Given the description of an element on the screen output the (x, y) to click on. 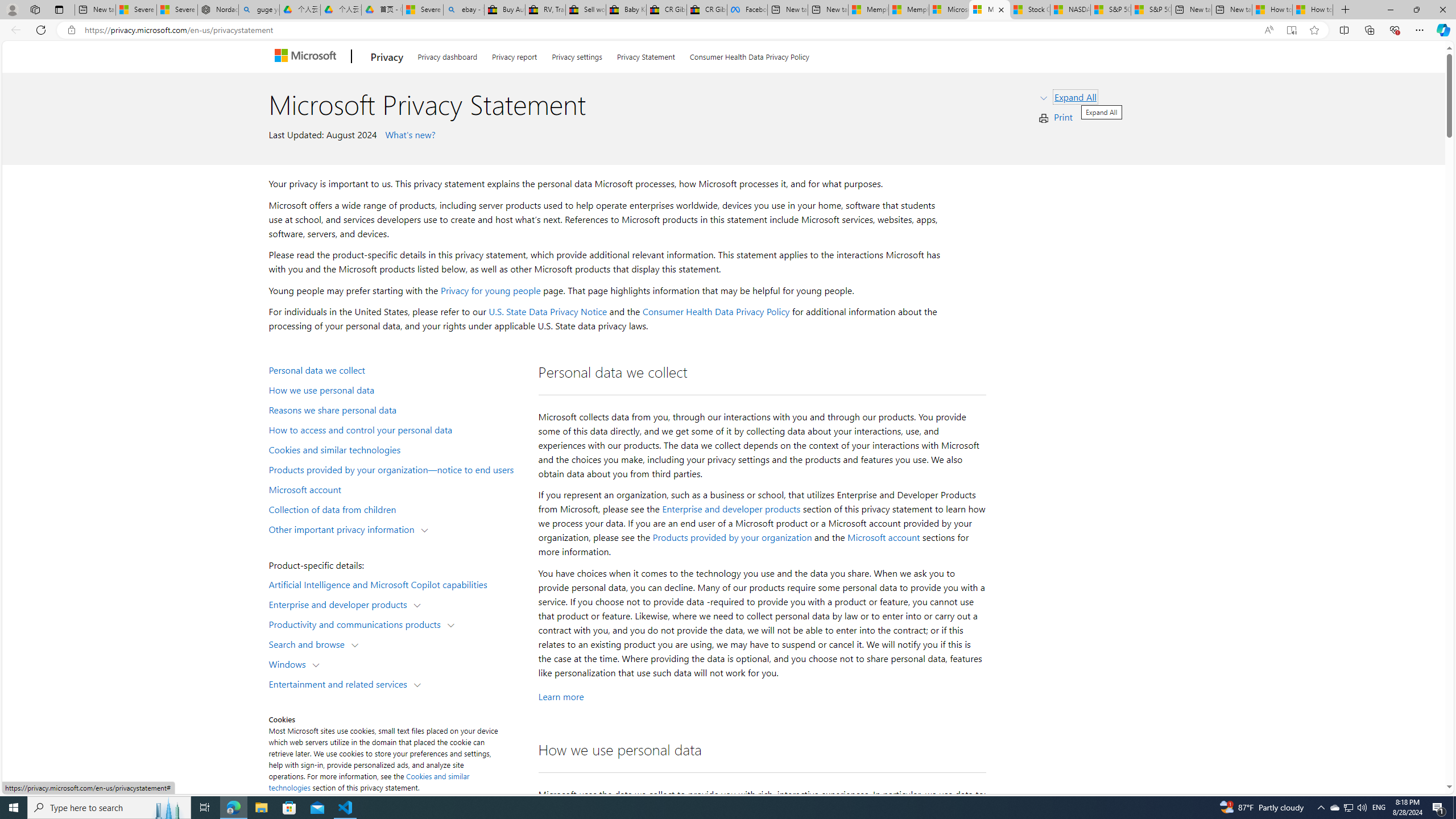
Privacy for young people (489, 290)
 What's new? (408, 133)
Consumer Health Data Privacy Policy (716, 311)
Personal data we collect (395, 368)
Learn more about Personal data we collect (560, 696)
